Given the description of an element on the screen output the (x, y) to click on. 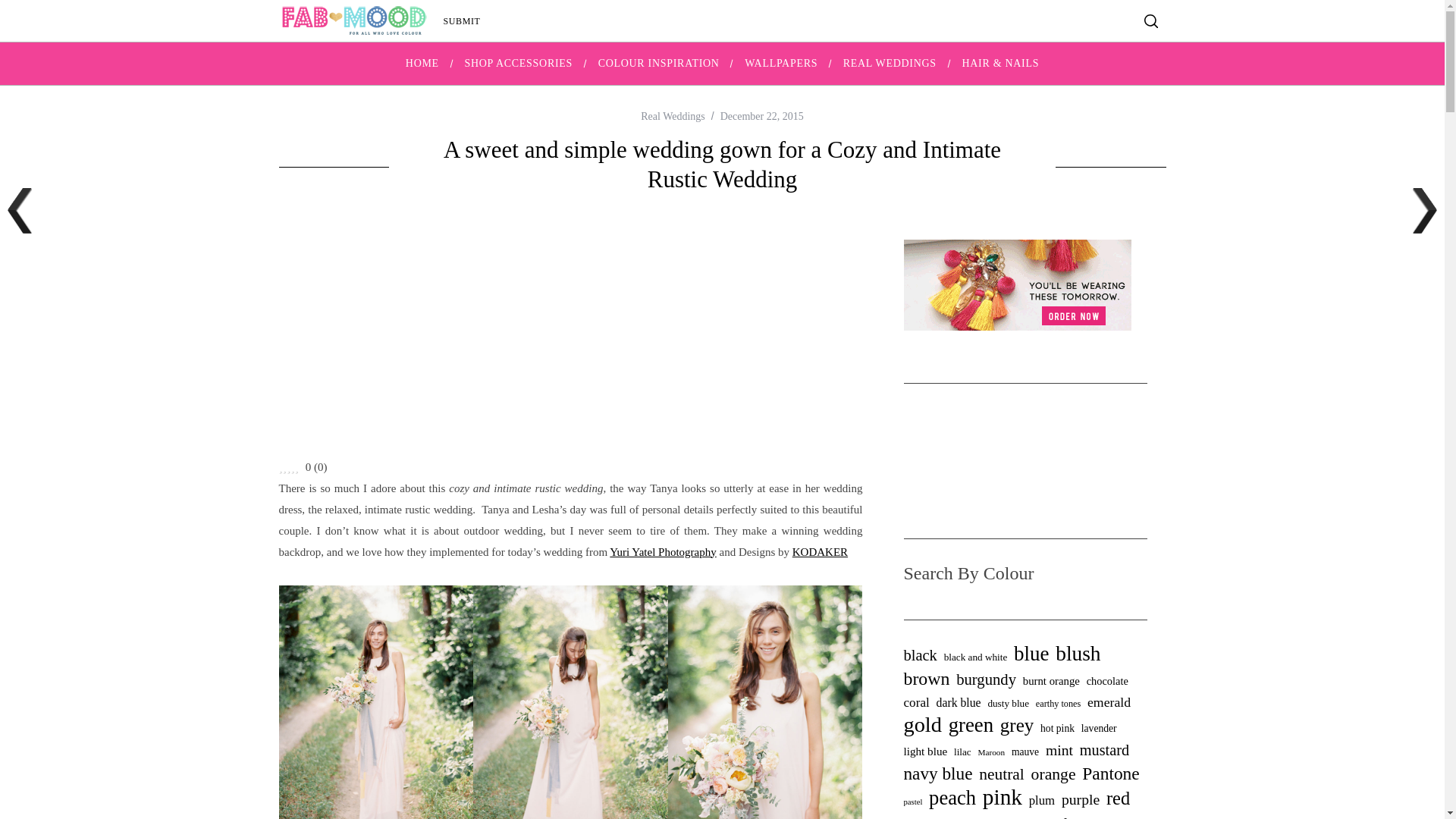
Real Weddings (672, 116)
Advertisement (571, 327)
WALLPAPERS (780, 63)
Yuri Yatel Photography (663, 551)
REAL WEDDINGS (889, 63)
SUBMIT (462, 20)
